Given the description of an element on the screen output the (x, y) to click on. 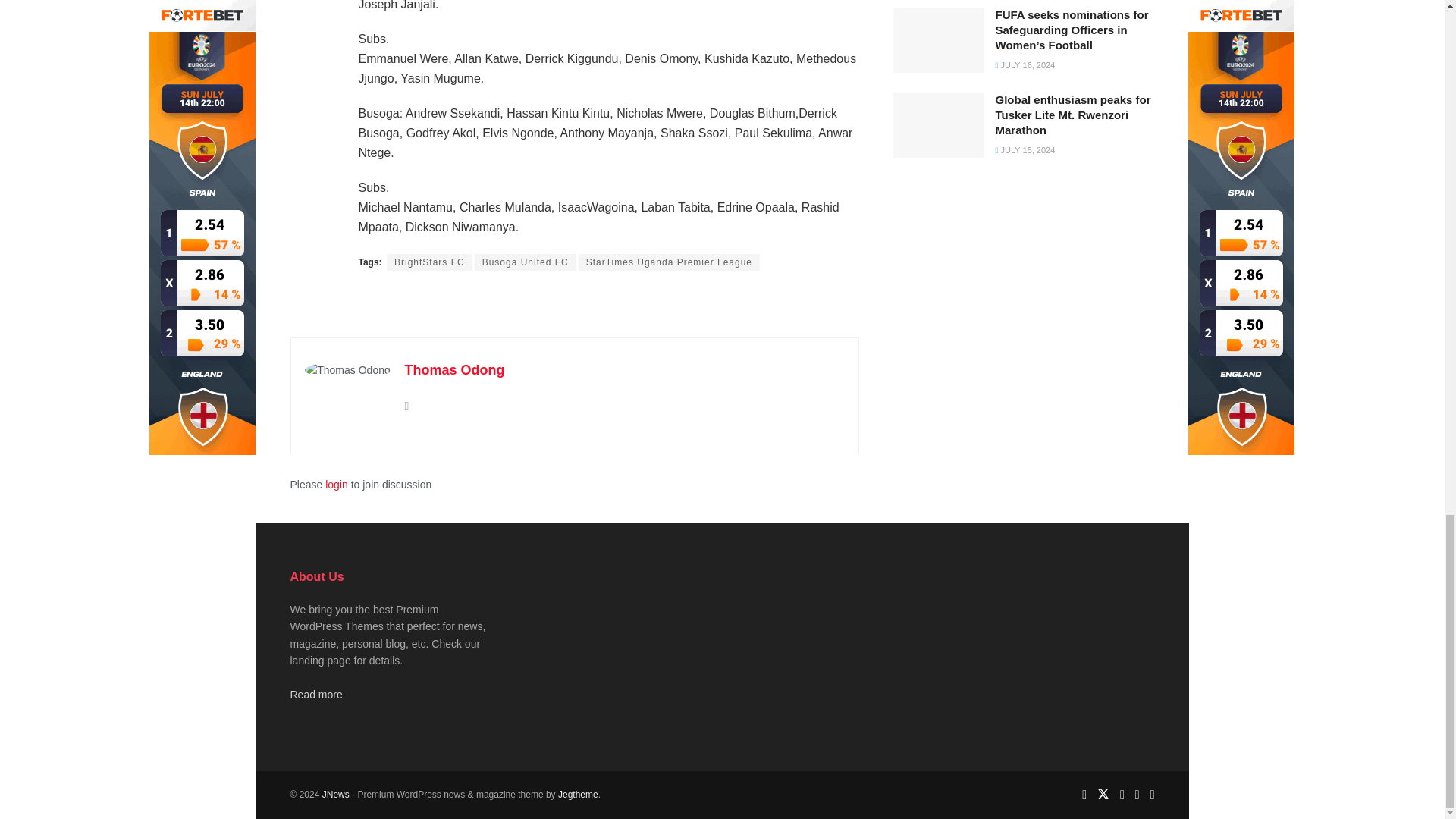
Jegtheme (577, 794)
